Given the description of an element on the screen output the (x, y) to click on. 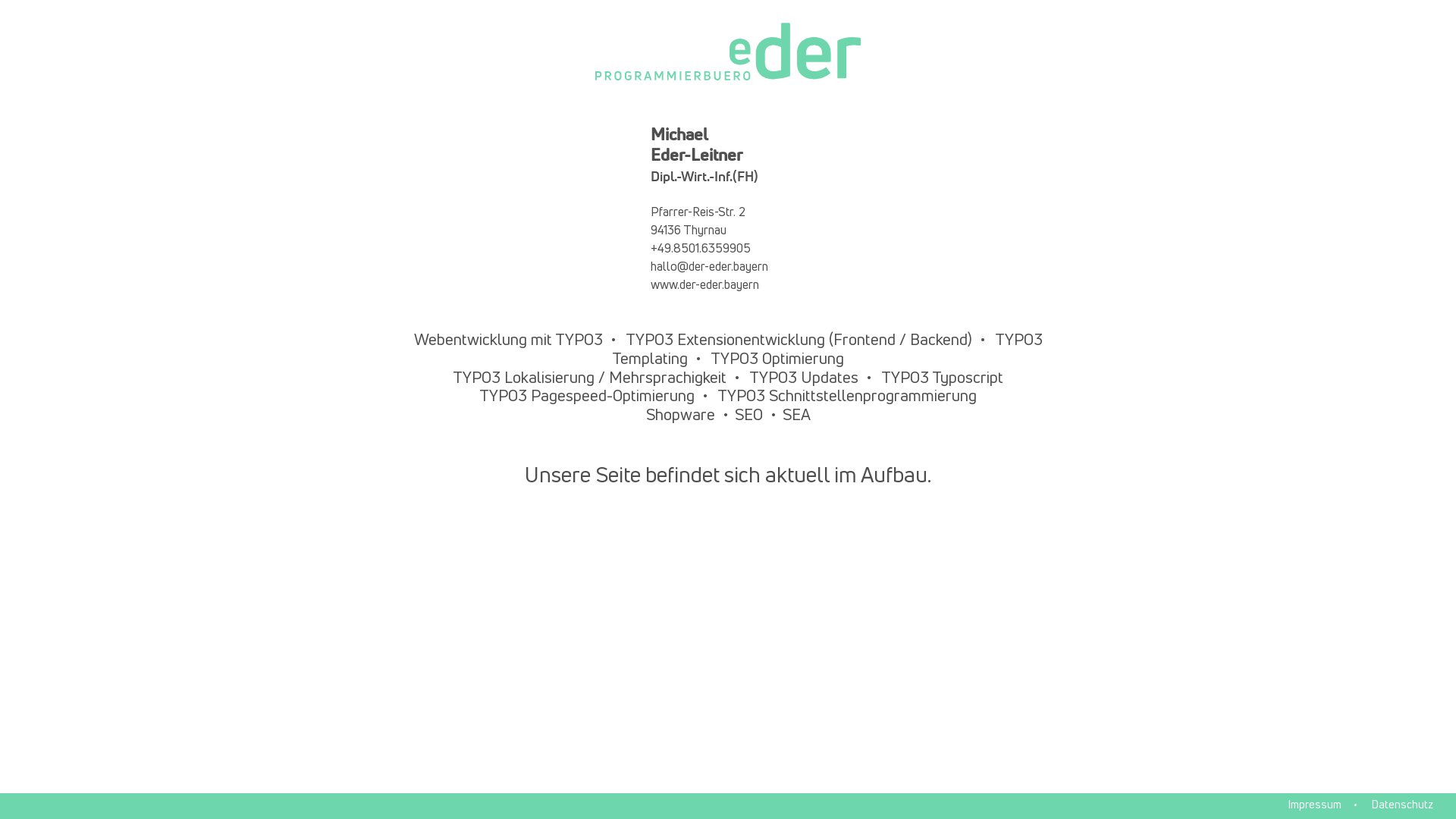
f Element type: text (24, 805)
Impressum Element type: text (1314, 805)
Datenschutz Element type: text (1402, 805)
hallo@der-eder.bayern Element type: text (709, 266)
t Element type: text (71, 805)
i Element type: text (49, 805)
